Given the description of an element on the screen output the (x, y) to click on. 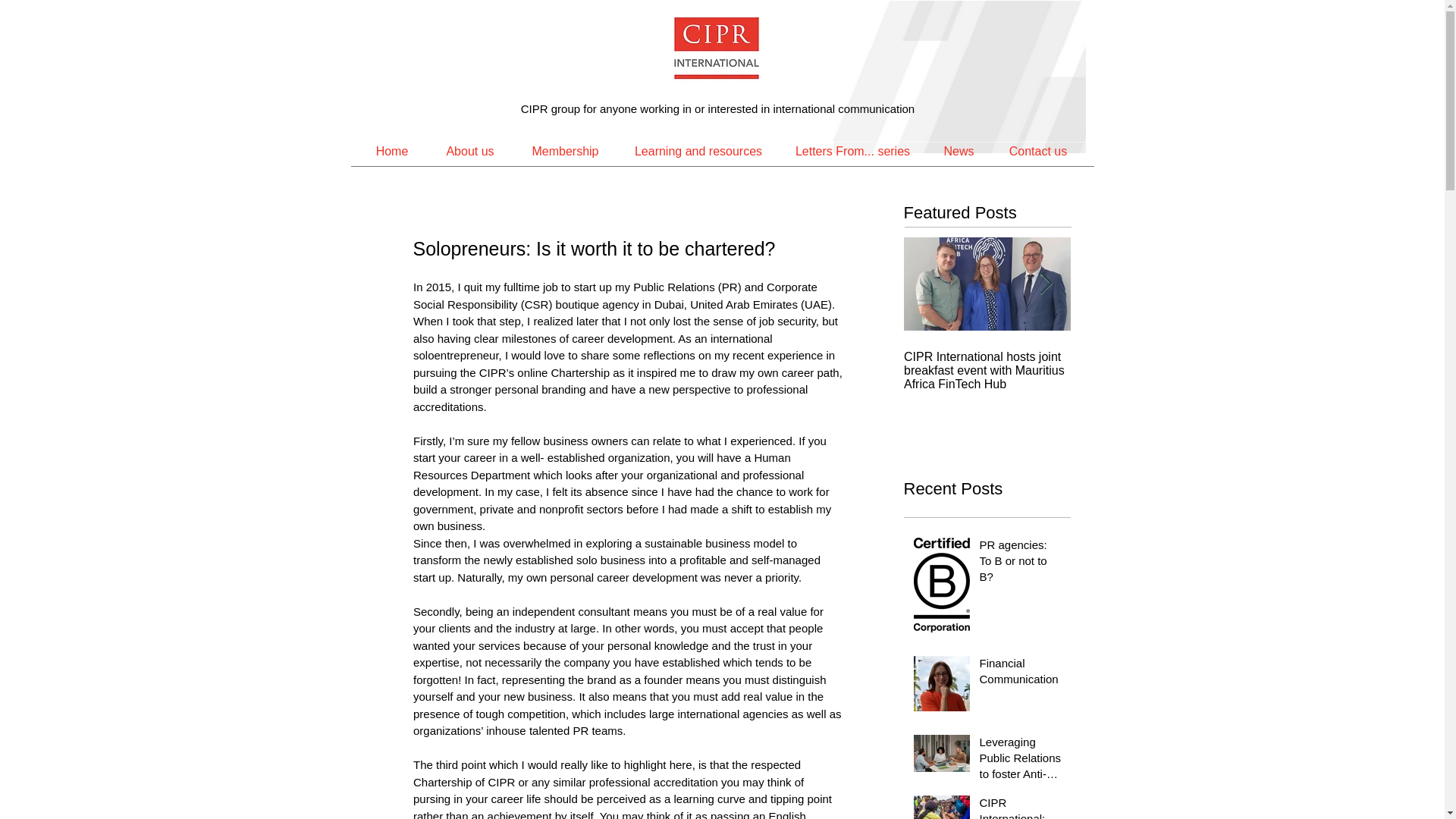
Home (391, 151)
News (958, 151)
Letters From... series (852, 151)
Contact us (1037, 151)
About us (470, 151)
Learning and resources (697, 151)
Membership (564, 151)
